Given the description of an element on the screen output the (x, y) to click on. 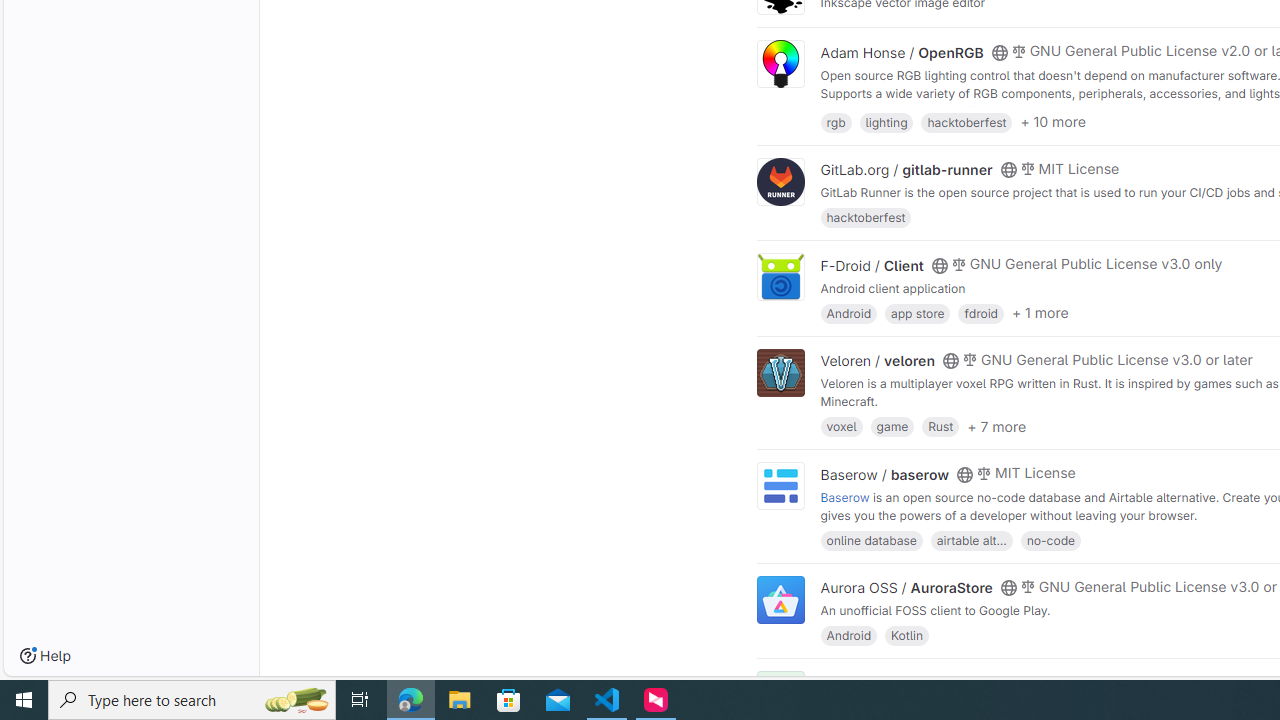
Edouard Klein / falsisign (902, 682)
Kotlin (907, 634)
F (780, 695)
fdroid (980, 312)
online database (871, 539)
game (892, 426)
Baserow (845, 496)
Aurora OSS / AuroraStore (906, 587)
GitLab.org / gitlab-runner (906, 170)
Veloren / veloren (877, 361)
Adam Honse / OpenRGB (902, 52)
+ 10 more (1053, 121)
+ 1 more (1039, 313)
Baserow / baserow (884, 474)
